Given the description of an element on the screen output the (x, y) to click on. 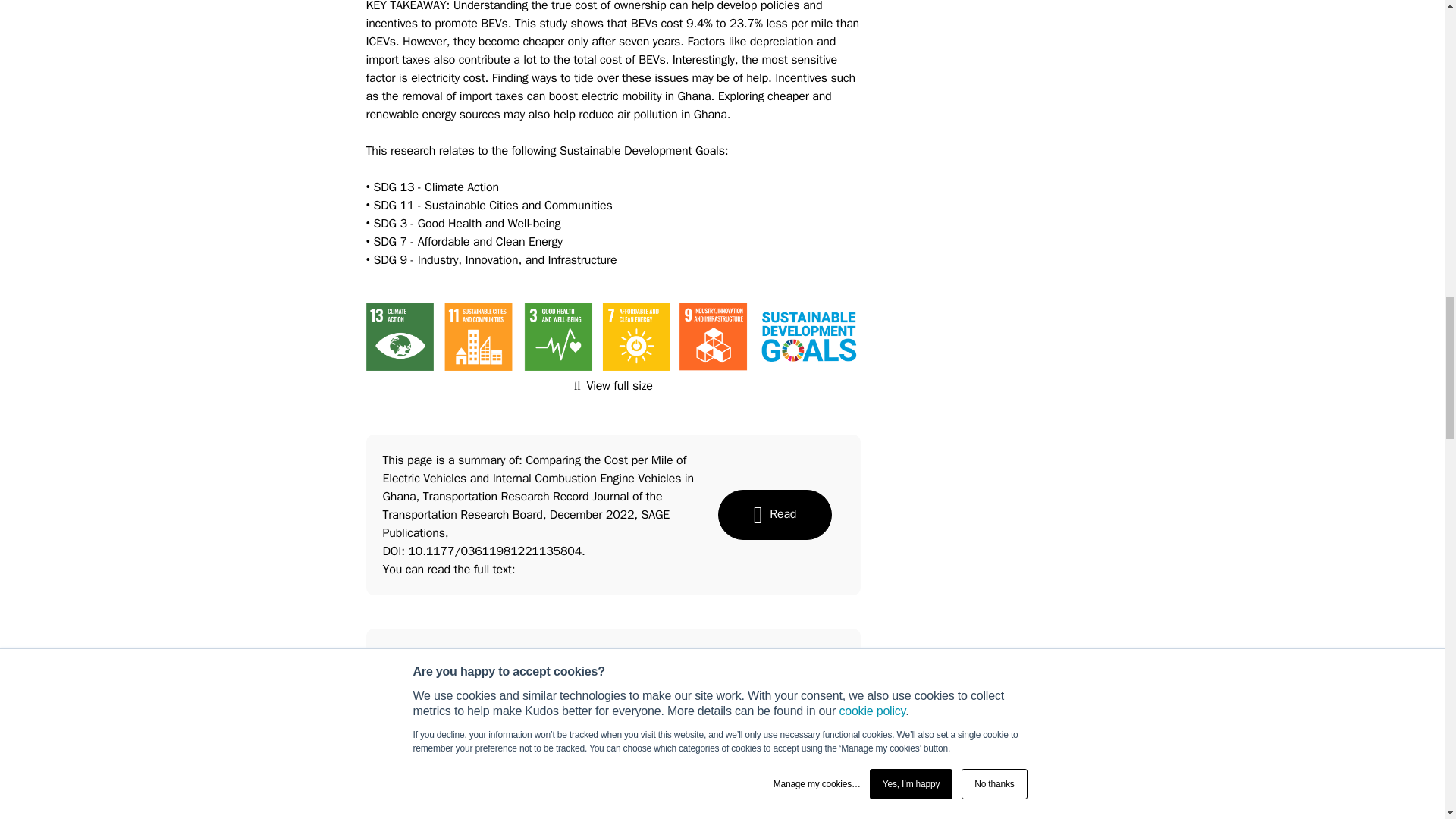
View full size (612, 385)
Read (774, 514)
